Given the description of an element on the screen output the (x, y) to click on. 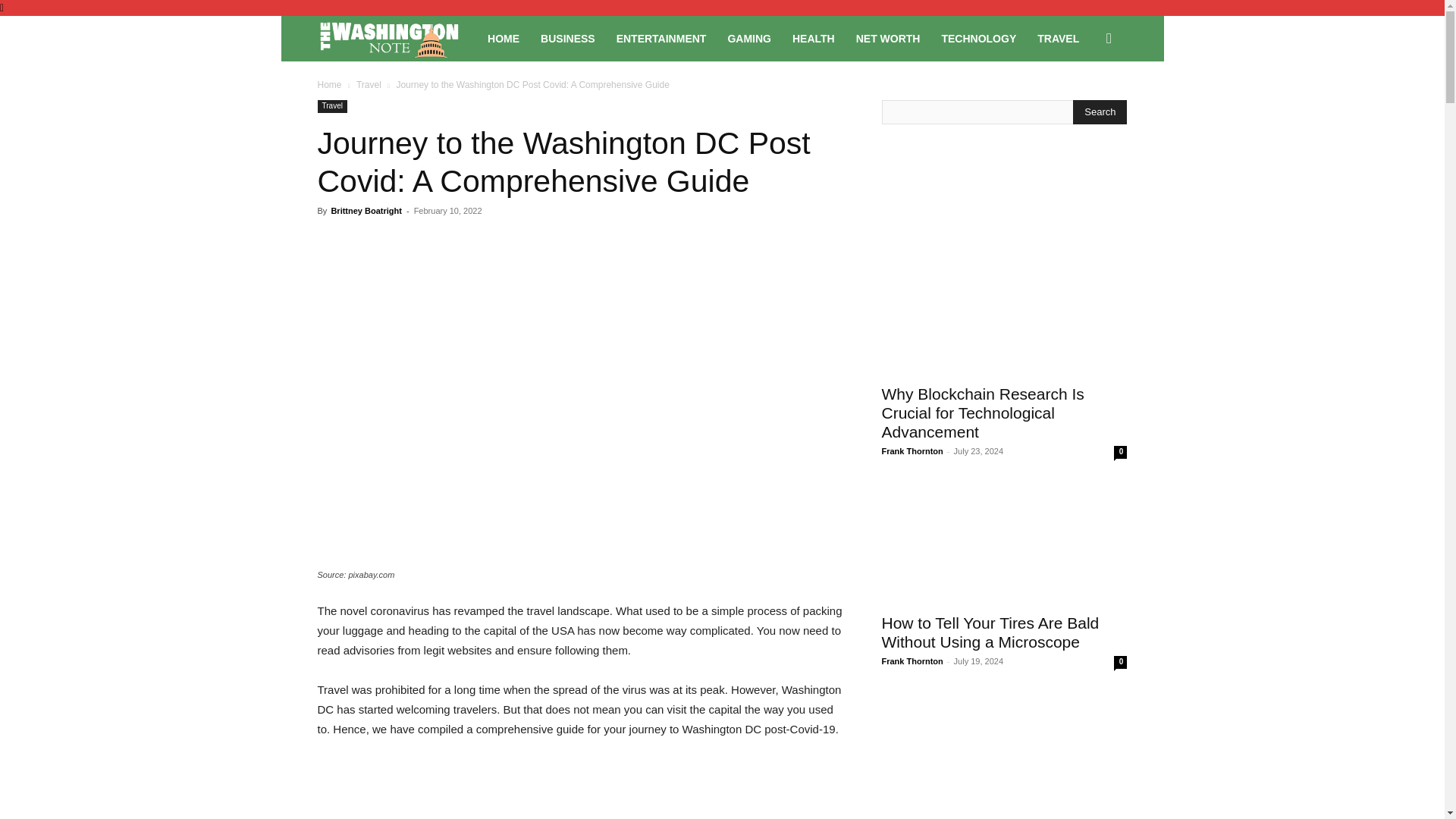
Home (328, 84)
Travel (331, 106)
Search (1099, 111)
NET WORTH (888, 38)
HOME (503, 38)
Travel (368, 84)
TRAVEL (1057, 38)
The Washington Note (397, 38)
View all posts in Travel (368, 84)
HEALTH (813, 38)
GAMING (748, 38)
BUSINESS (567, 38)
TECHNOLOGY (978, 38)
